Given the description of an element on the screen output the (x, y) to click on. 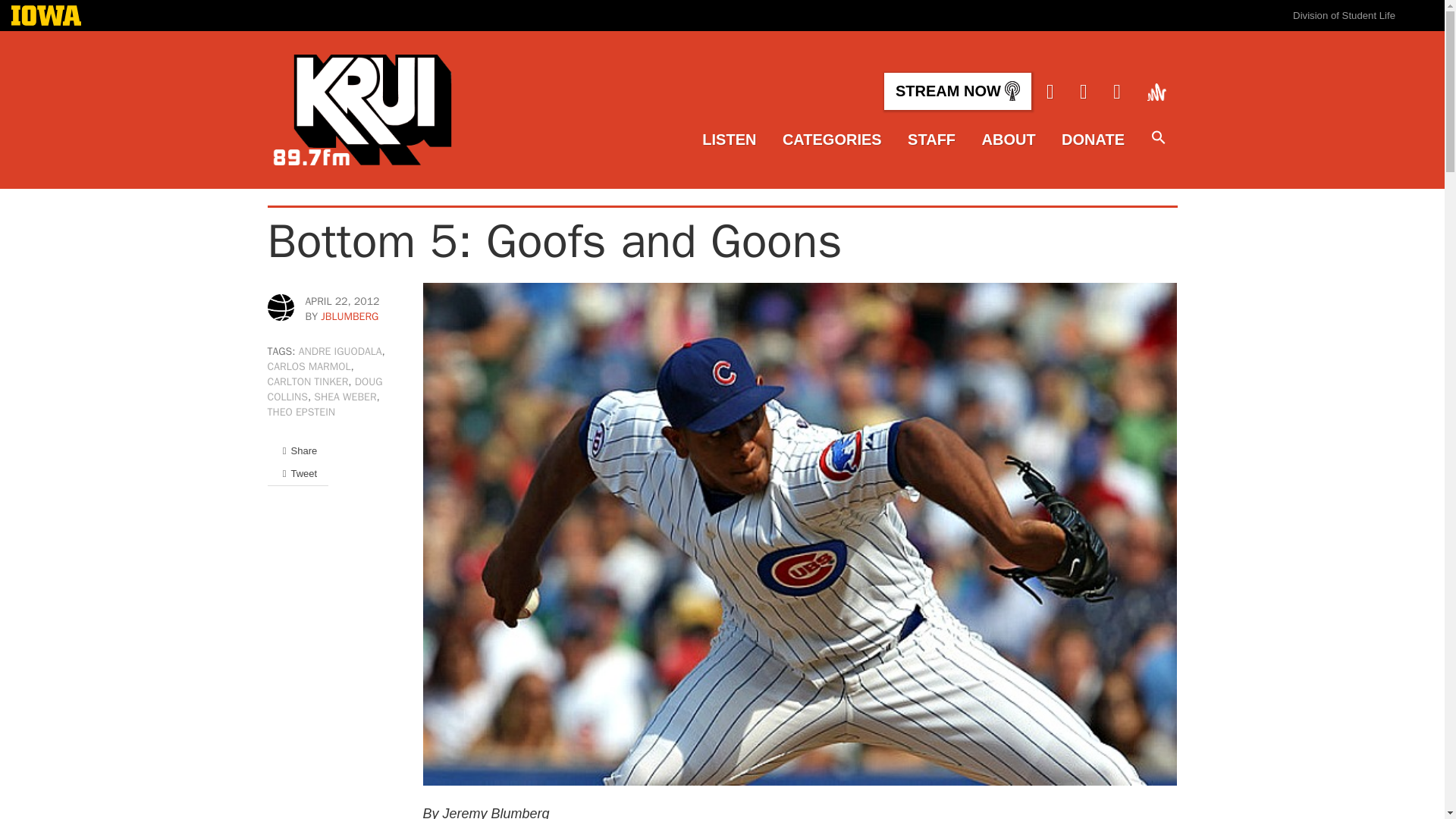
STAFF (931, 139)
LISTEN (728, 139)
The University of Iowa (46, 16)
STREAM NOW (956, 90)
Share on Facebook (296, 450)
ABOUT (1008, 139)
CATEGORIES (832, 139)
Division of Student Life (1343, 15)
Share on Twitter (296, 473)
